Given the description of an element on the screen output the (x, y) to click on. 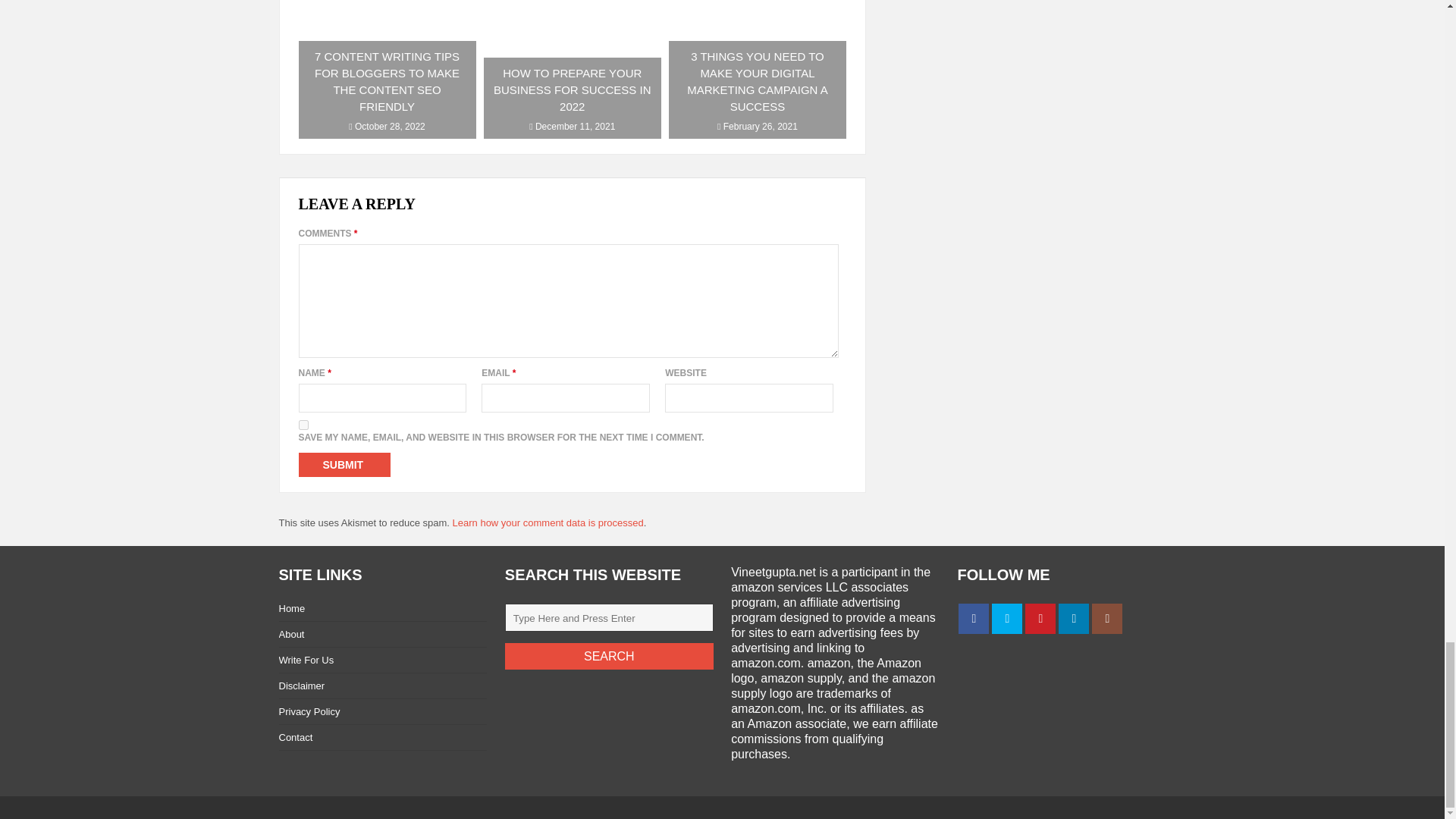
yes (303, 424)
Search (609, 655)
Search (609, 655)
Submit  (344, 464)
